Given the description of an element on the screen output the (x, y) to click on. 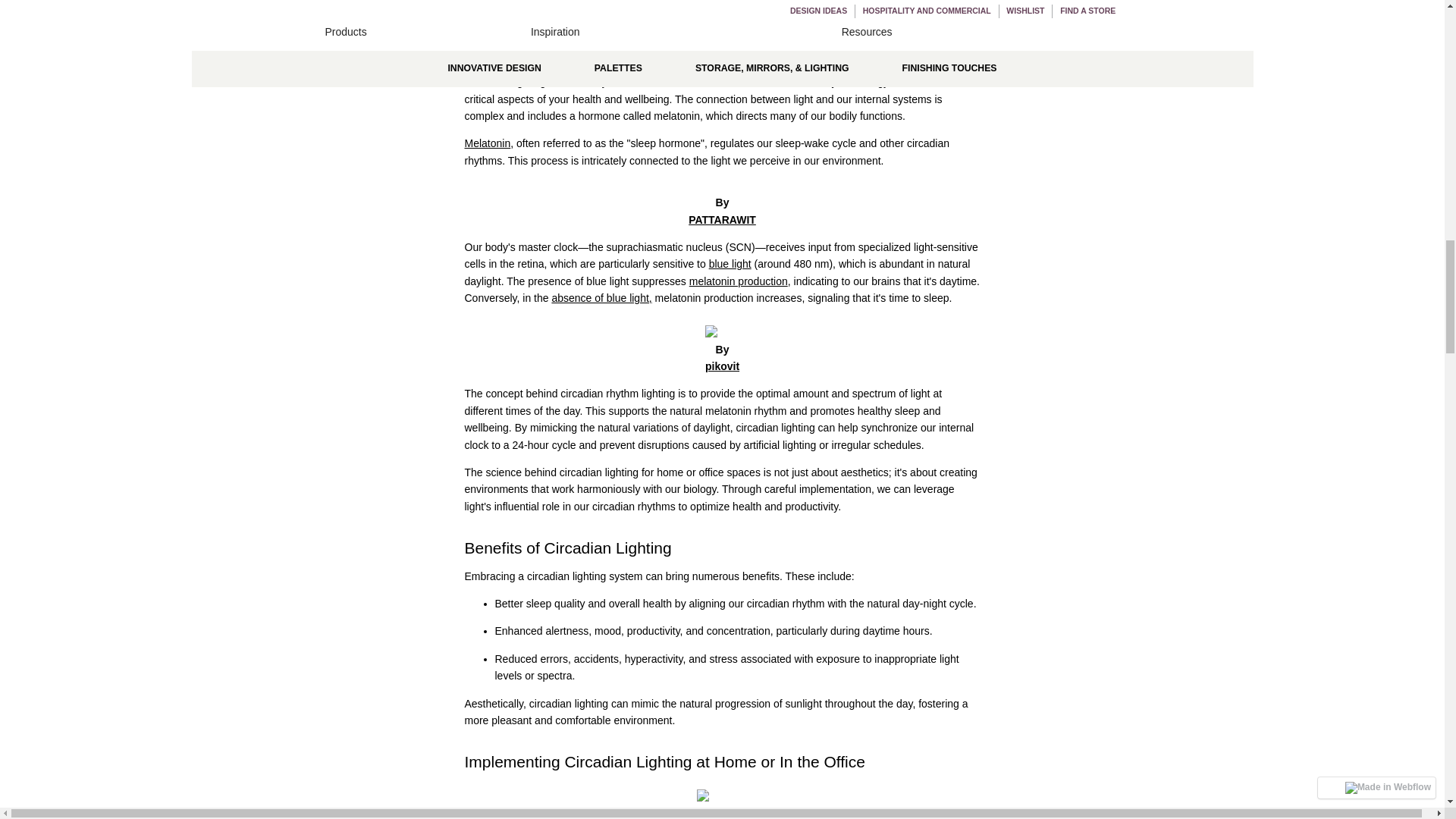
absence of blue light, (600, 297)
Melatonin (487, 143)
pikovit (721, 366)
melatonin production (737, 281)
PATTARAWIT (721, 219)
Elena Pimukova (721, 813)
blue light (730, 263)
